Given the description of an element on the screen output the (x, y) to click on. 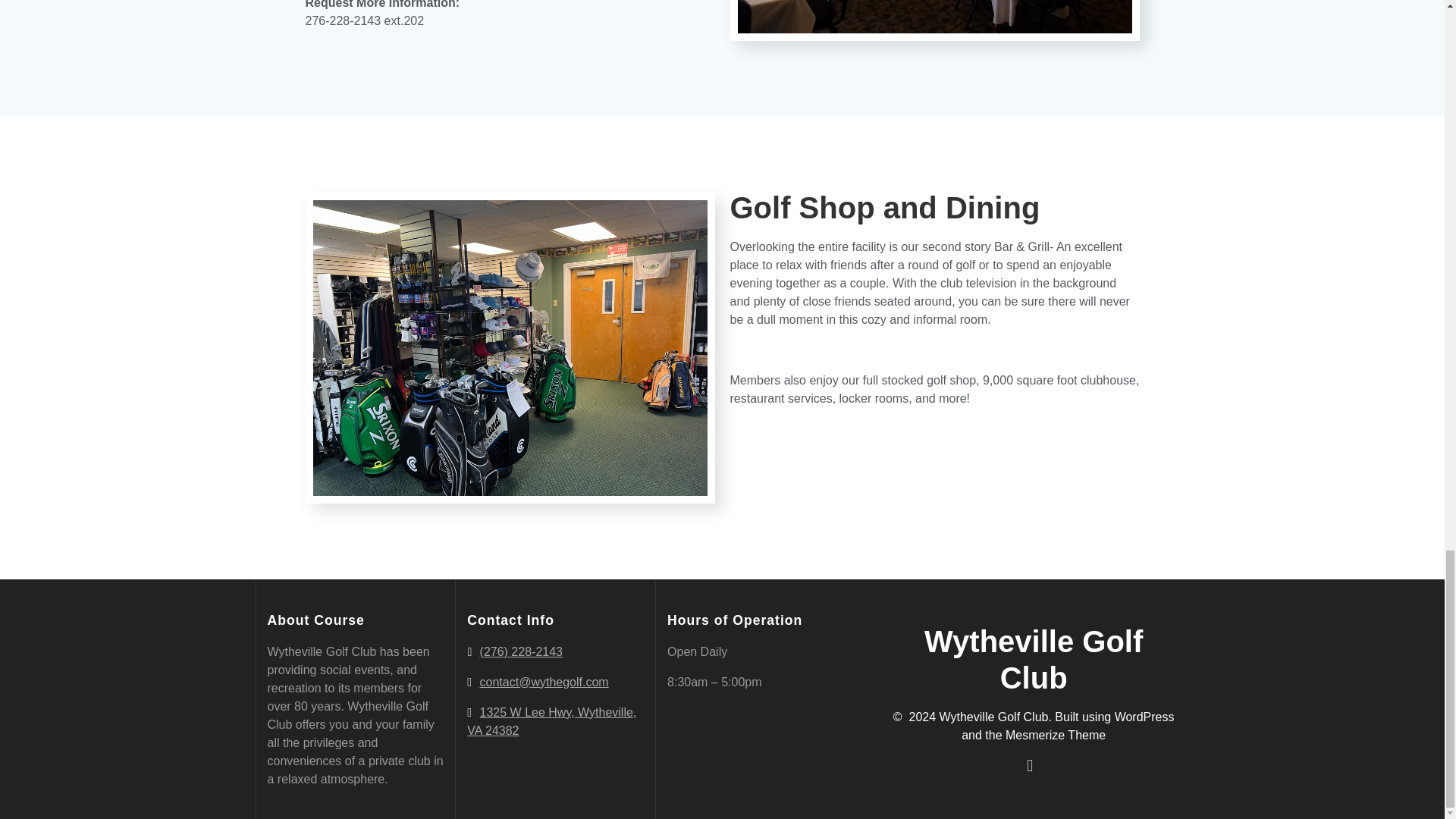
Mesmerize Theme (1055, 735)
1325 W Lee Hwy, Wytheville, VA 24382 (551, 721)
